Given the description of an element on the screen output the (x, y) to click on. 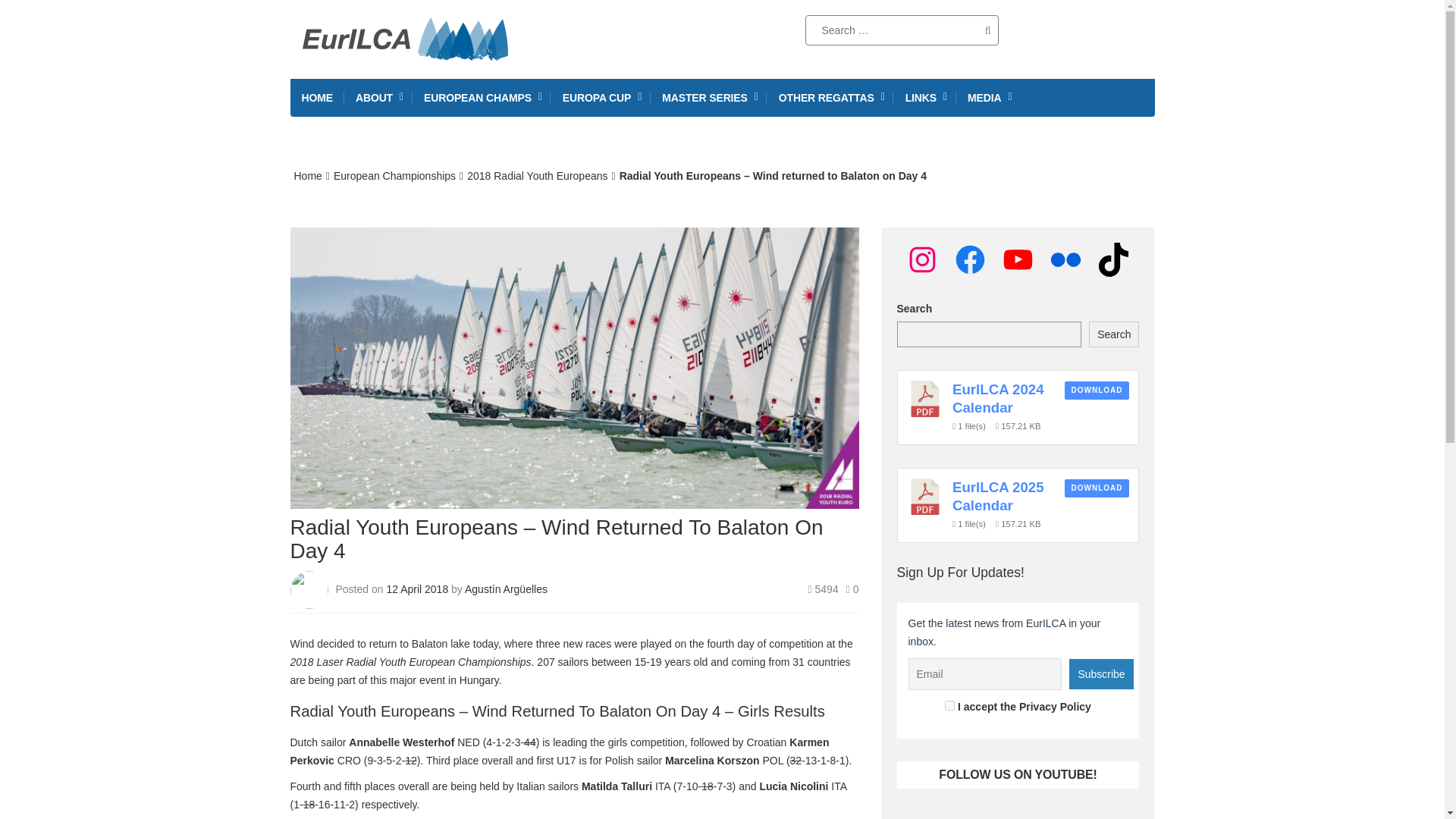
Subscribe (1100, 674)
ABOUT (377, 97)
Follow us (1046, 30)
on (949, 705)
EUROPEAN CHAMPS (481, 97)
HOME (316, 97)
Search for: (901, 30)
Home (307, 175)
